Given the description of an element on the screen output the (x, y) to click on. 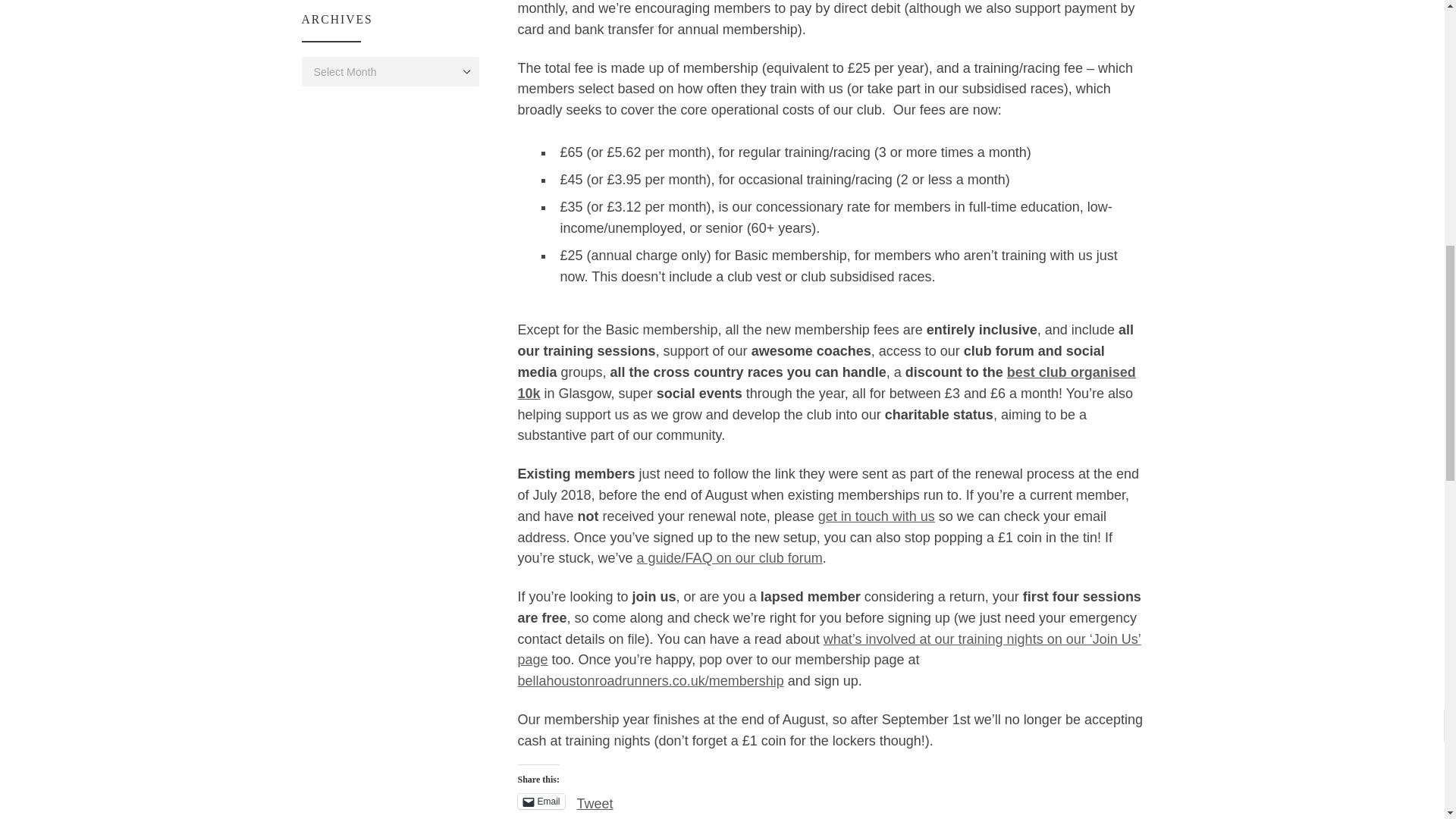
Click to email a link to a friend (540, 801)
